Given the description of an element on the screen output the (x, y) to click on. 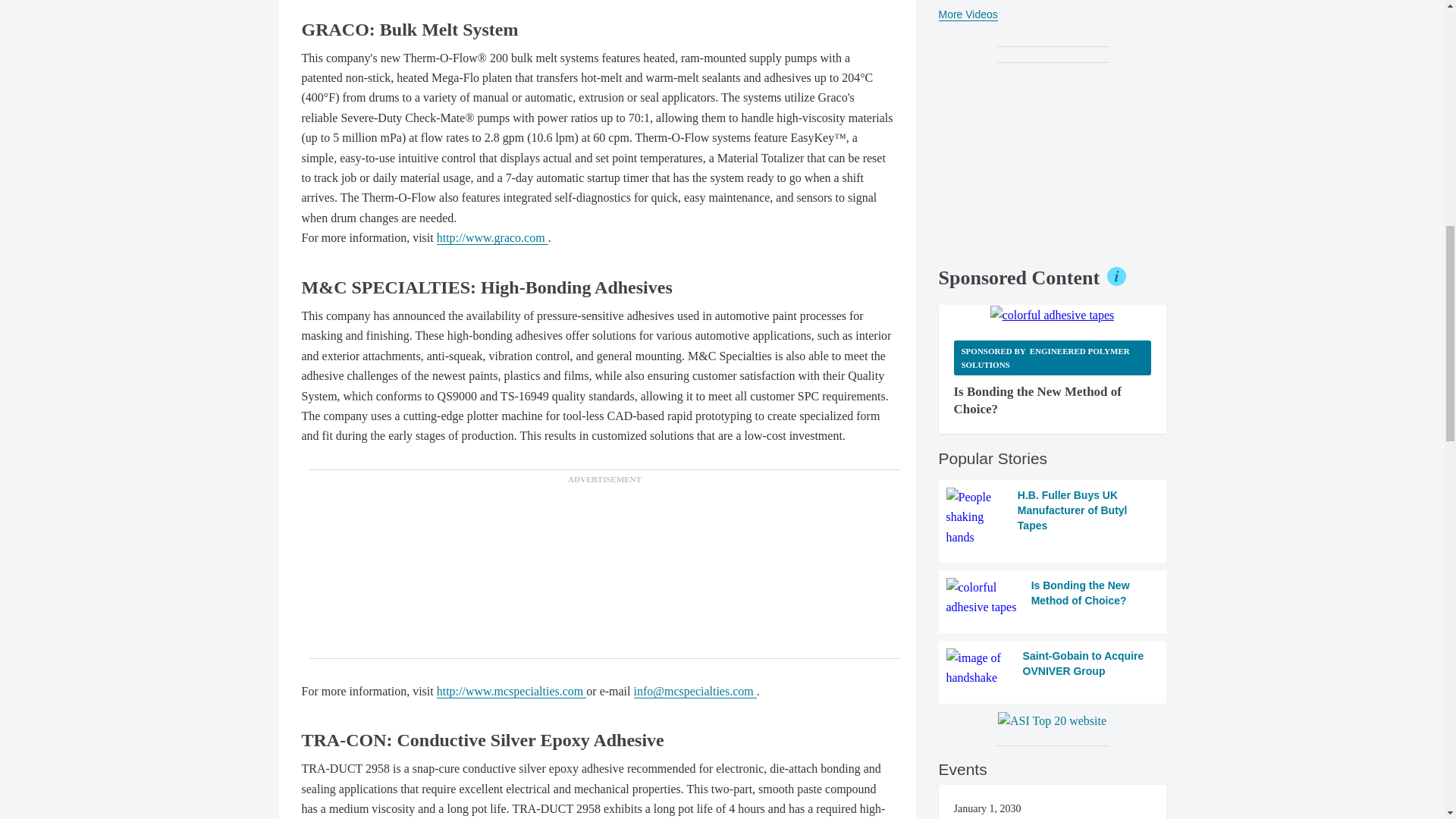
H.B. Fuller Buys UK Manufacturer of Butyl Tapes (1052, 517)
Is Bonding the New Method of Choice? (1052, 598)
colorful adhesive tapes (1052, 315)
Sponsored by Engineered Polymer Solutions (1052, 357)
Saint-Gobain to Acquire OVNIVER Group (1052, 668)
